Given the description of an element on the screen output the (x, y) to click on. 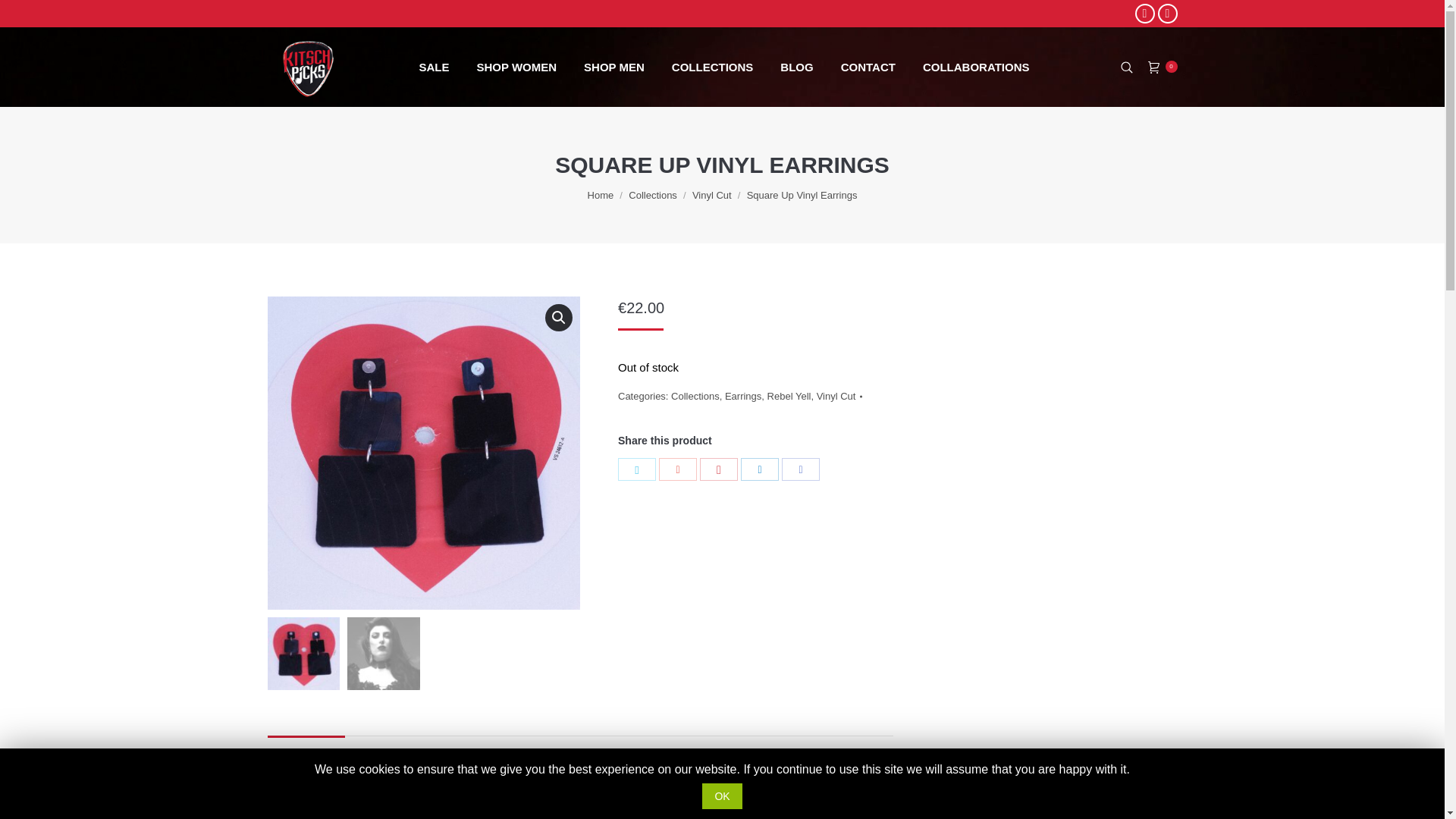
Home (601, 194)
Vinyl Cut (712, 194)
SHOP MEN (613, 66)
LinkedIn (759, 468)
Instagram (1166, 13)
 0 (1162, 66)
Square Up Vinyl Earrings (422, 452)
CONTACT (868, 66)
COLLABORATIONS (976, 66)
Facebook (1144, 13)
COLLECTIONS (712, 66)
Instagram (1166, 13)
Collections (652, 194)
Twitter (636, 468)
